Given the description of an element on the screen output the (x, y) to click on. 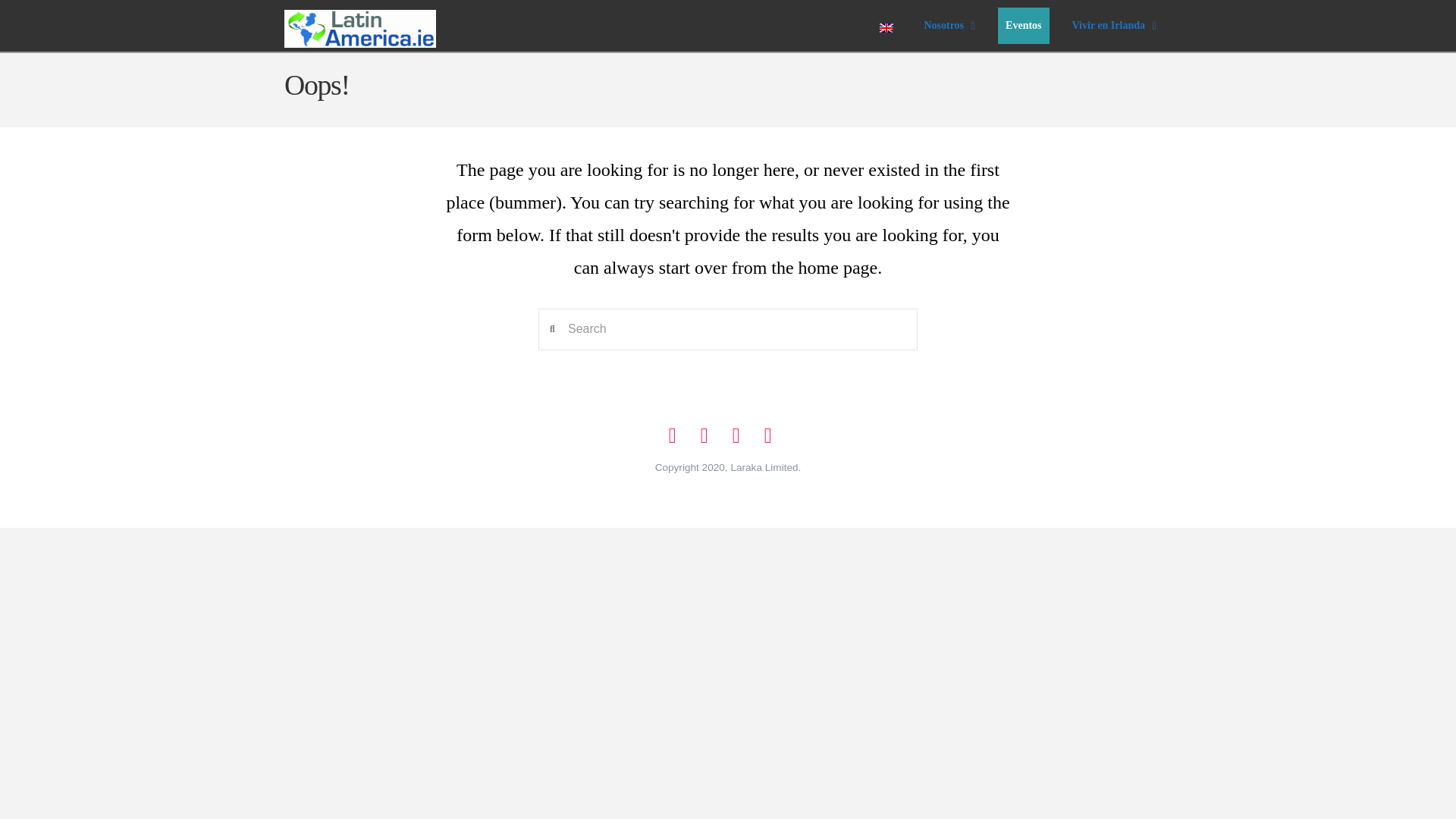
Vivir en Irlanda (1018, 25)
Nosotros (1113, 25)
English (948, 25)
Eventos (886, 27)
